Given the description of an element on the screen output the (x, y) to click on. 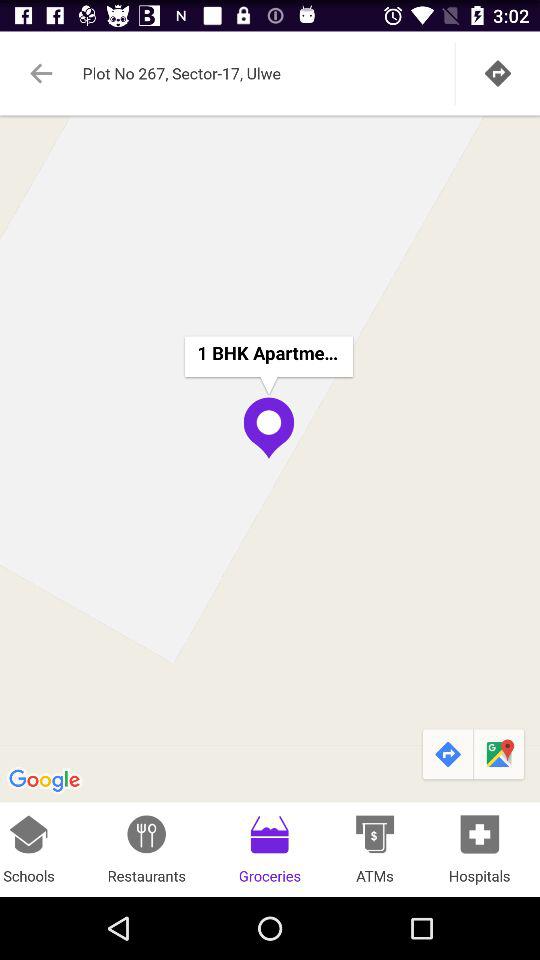
select the icon above hospitals item (499, 754)
